Given the description of an element on the screen output the (x, y) to click on. 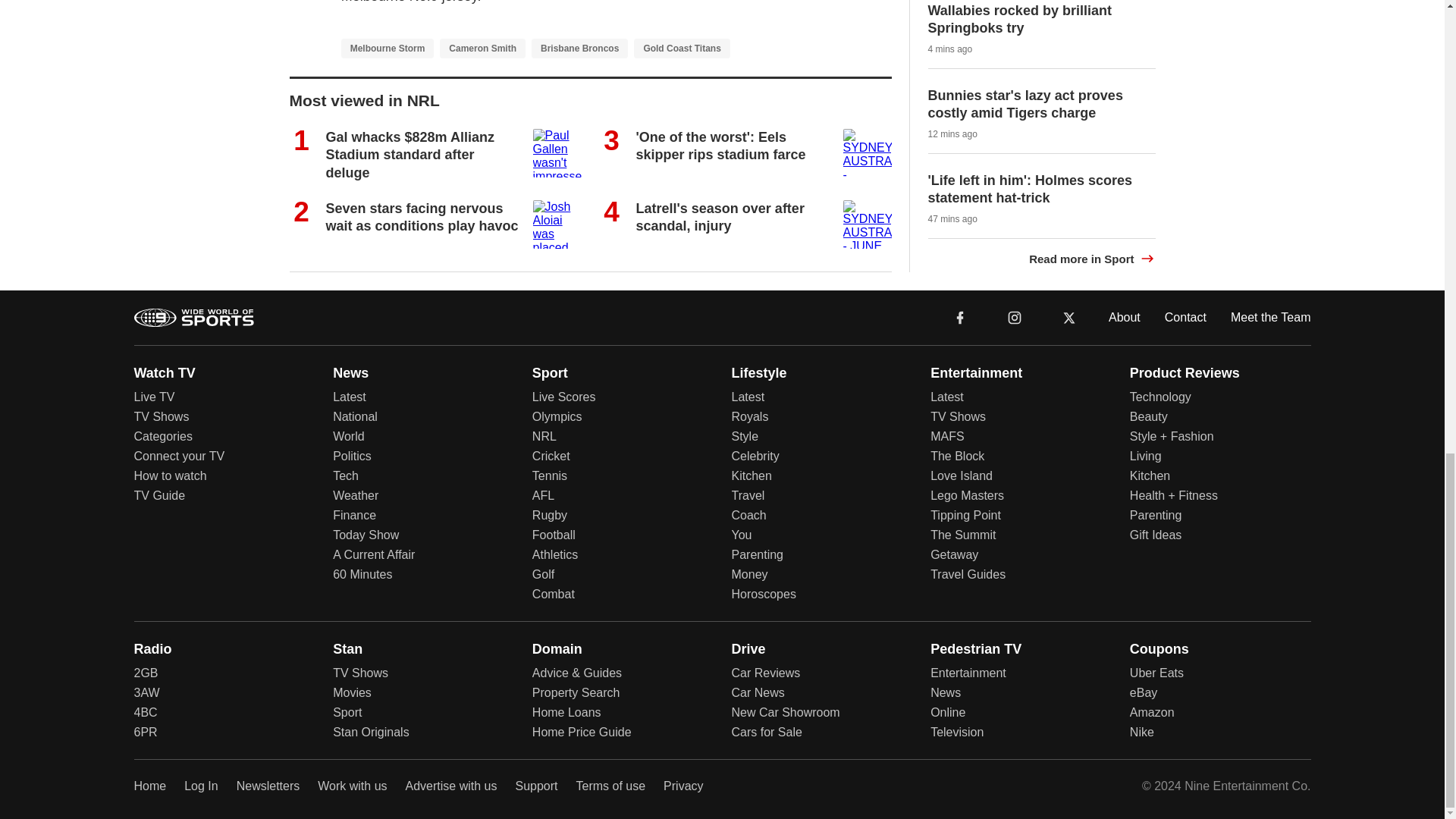
Melbourne Storm (386, 47)
'One of the worst': Eels skipper rips stadium farce (719, 145)
facebook (959, 316)
Brisbane Broncos (579, 47)
Gold Coast Titans (681, 47)
instagram (1013, 316)
Latrell's season over after scandal, injury (718, 216)
instagram (1014, 317)
x (1069, 316)
Cameron Smith (482, 47)
